Given the description of an element on the screen output the (x, y) to click on. 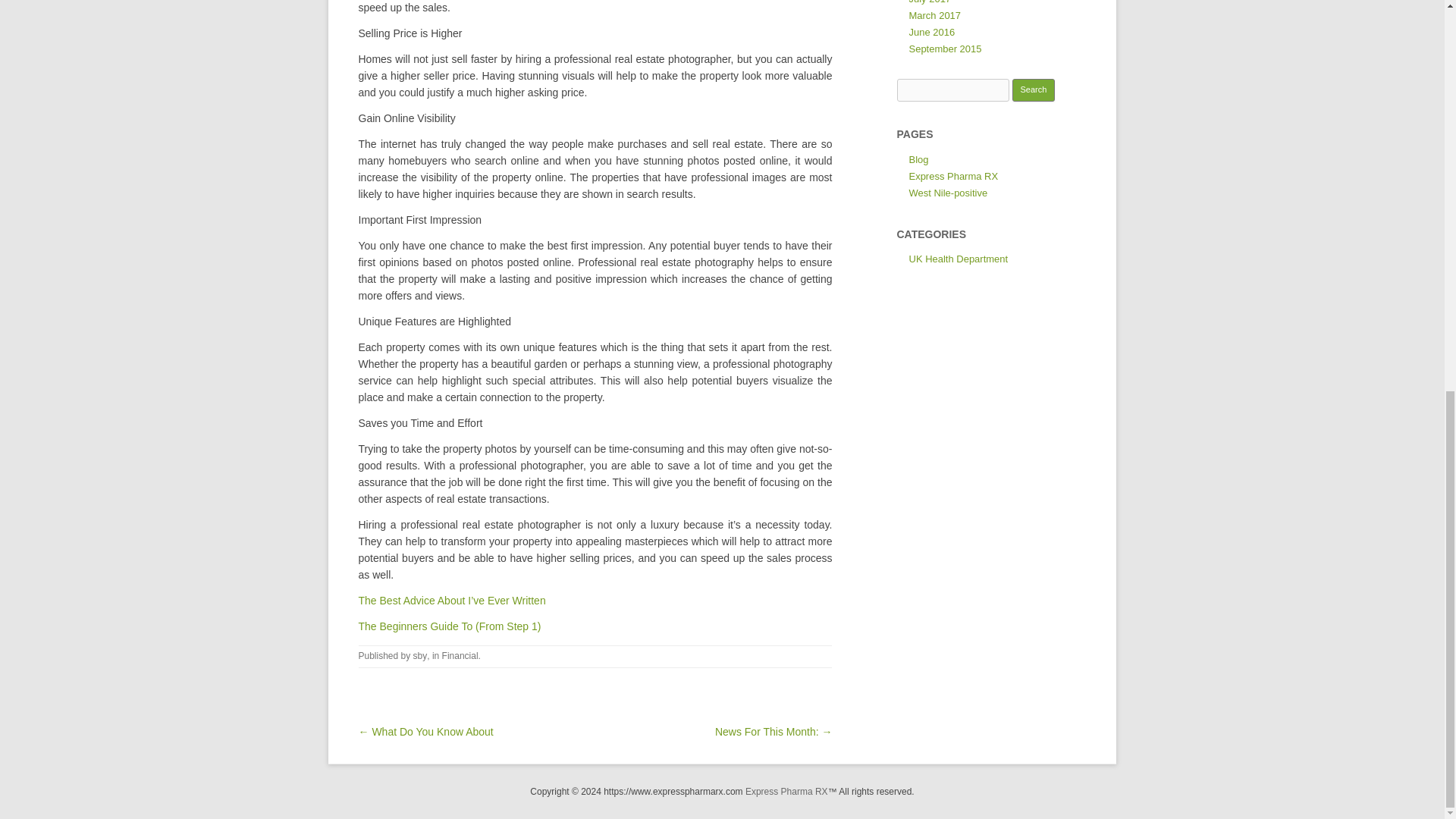
Search (1033, 89)
Express Pharma RX (786, 791)
Express Pharma RX (952, 175)
UK Health Department (957, 258)
sby (420, 655)
March 2017 (934, 15)
View all posts by sby (420, 655)
Blog (918, 159)
Financial (460, 655)
Search (1033, 89)
West Nile-positive (947, 193)
September 2015 (944, 48)
June 2016 (931, 31)
July 2017 (929, 2)
